Given the description of an element on the screen output the (x, y) to click on. 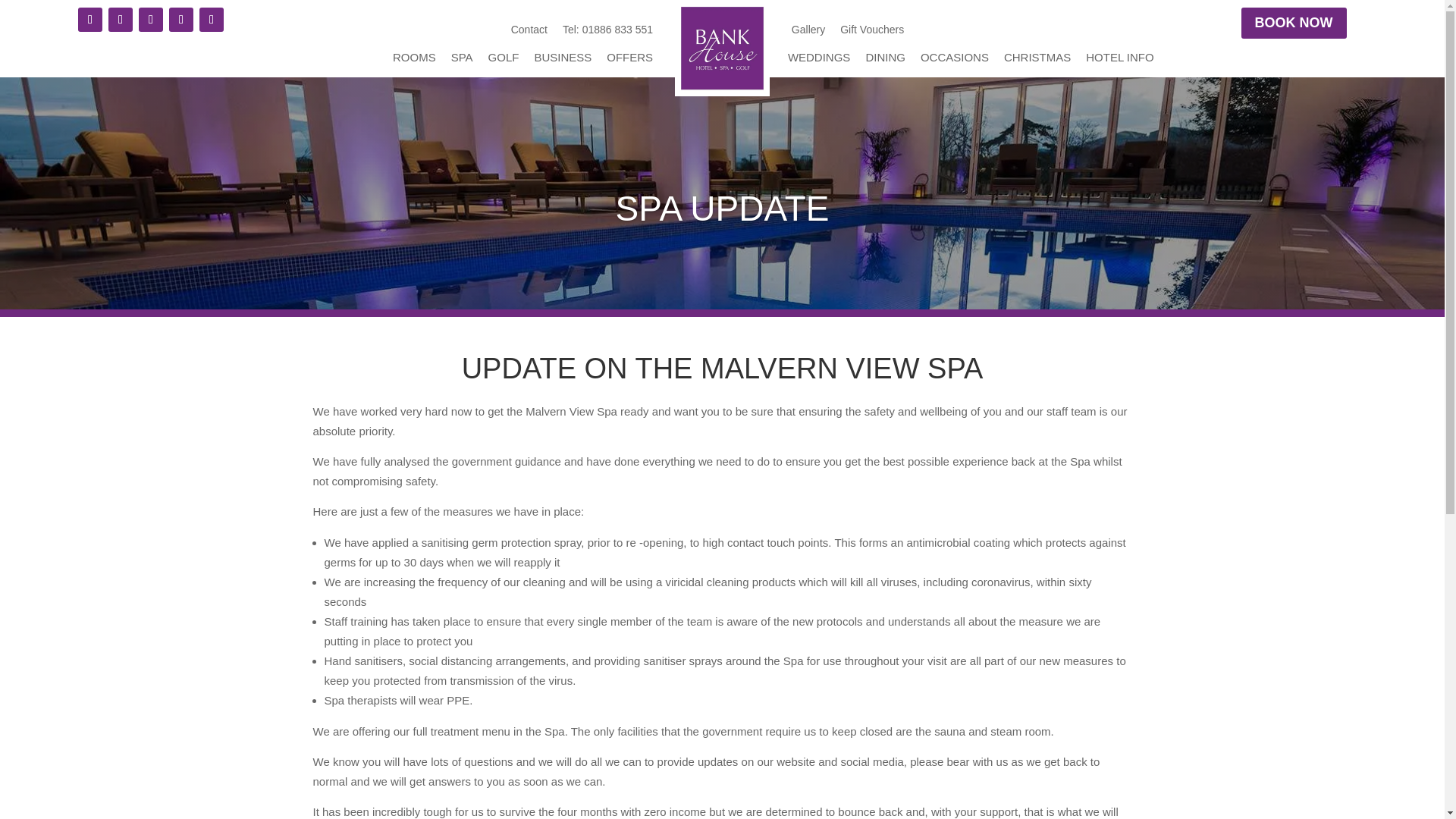
Follow on Pinterest (180, 19)
BUSINESS (570, 60)
Follow on LinkedIn (211, 19)
OFFERS (637, 60)
ROOMS (422, 60)
SPA (469, 60)
Gift Vouchers (872, 32)
Follow on Facebook (89, 19)
Follow on X (150, 19)
BOOK NOW (1293, 22)
Bank House Hotel logo (722, 48)
Follow on Instagram (119, 19)
Tel: 01886 833 551 (607, 32)
Contact (529, 32)
Gallery (808, 32)
